Given the description of an element on the screen output the (x, y) to click on. 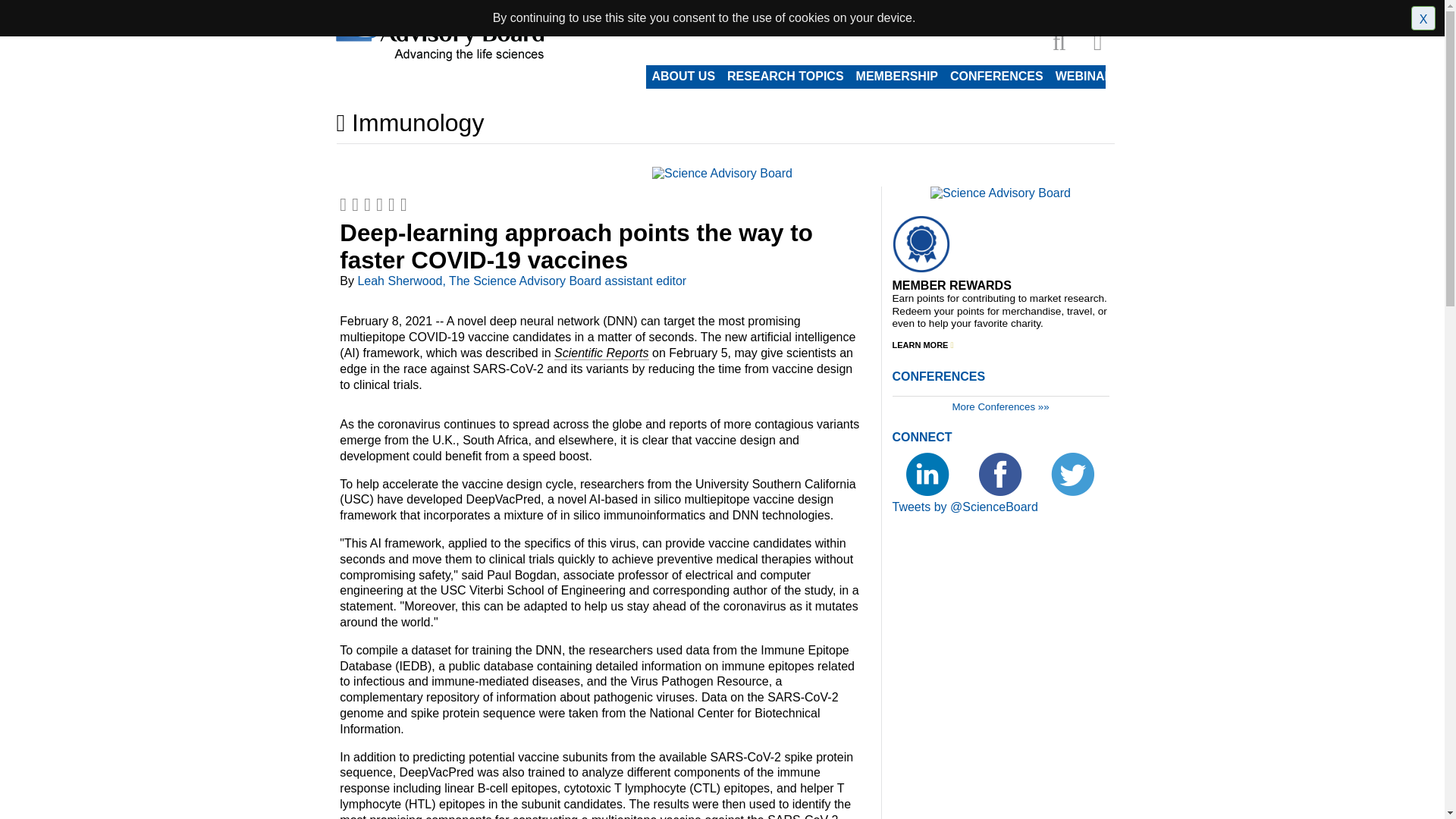
Leah Sherwood, The Science Advisory Board assistant editor (520, 280)
ABOUT US (684, 76)
MEMBERSHIP (896, 76)
Rewards (1083, 8)
Immunology (725, 126)
RESEARCH TOPICS (785, 76)
Member Sign In (1013, 8)
Subscribe Now (931, 8)
CONFERENCES (996, 76)
Science Advisory Board (1000, 192)
